Given the description of an element on the screen output the (x, y) to click on. 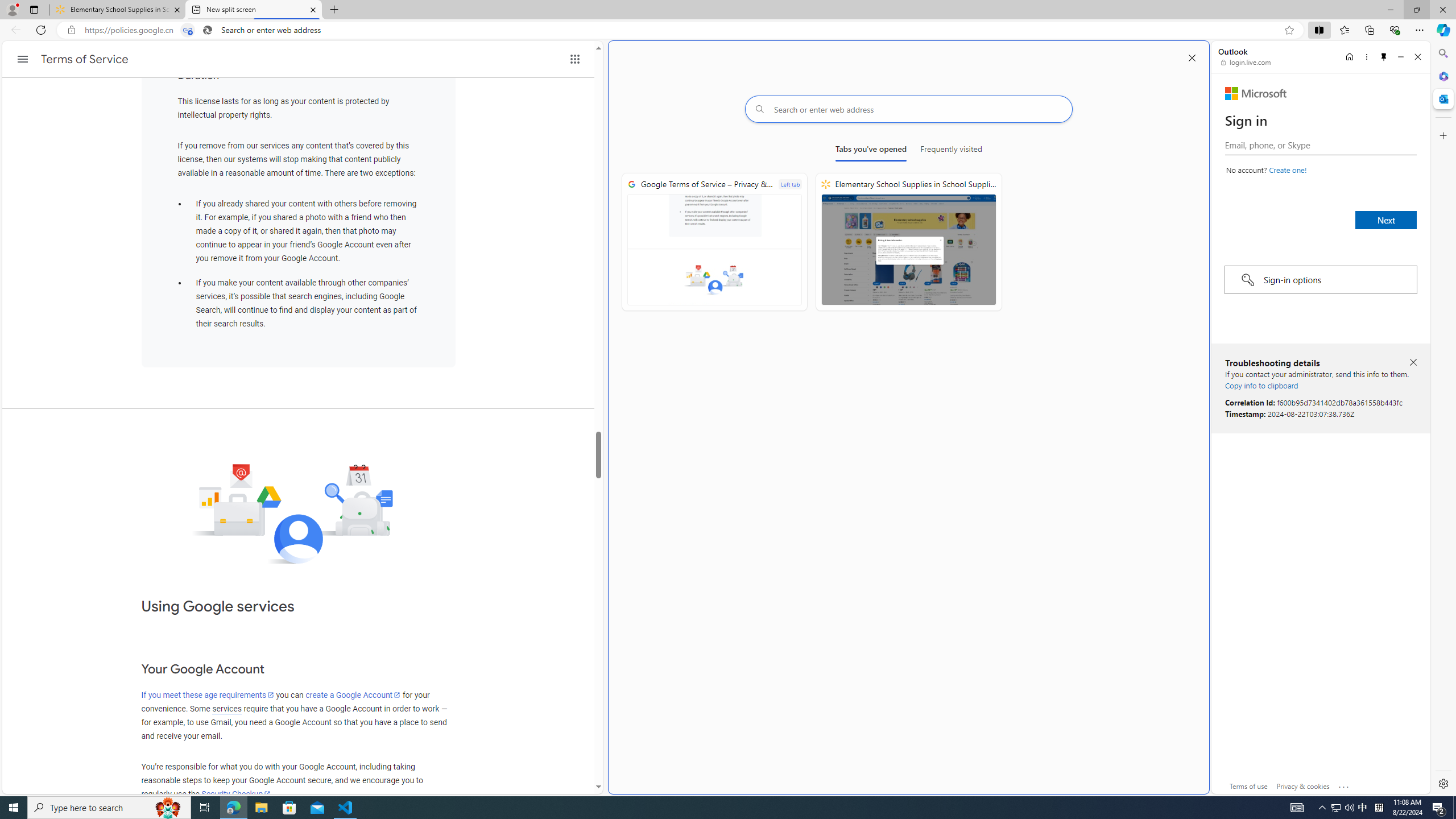
Close (1417, 56)
Close Outlook pane (1442, 98)
Home (1348, 56)
Close troubleshooting details (1412, 362)
More options (1366, 56)
Customize (1442, 135)
Browser essentials (1394, 29)
Restore (1416, 9)
Close split screen (1192, 57)
Frequently visited (951, 151)
Next (1385, 220)
Privacy & cookies (1302, 785)
Terms of use (1249, 785)
Sign-in options (1320, 279)
Microsoft (1255, 93)
